Given the description of an element on the screen output the (x, y) to click on. 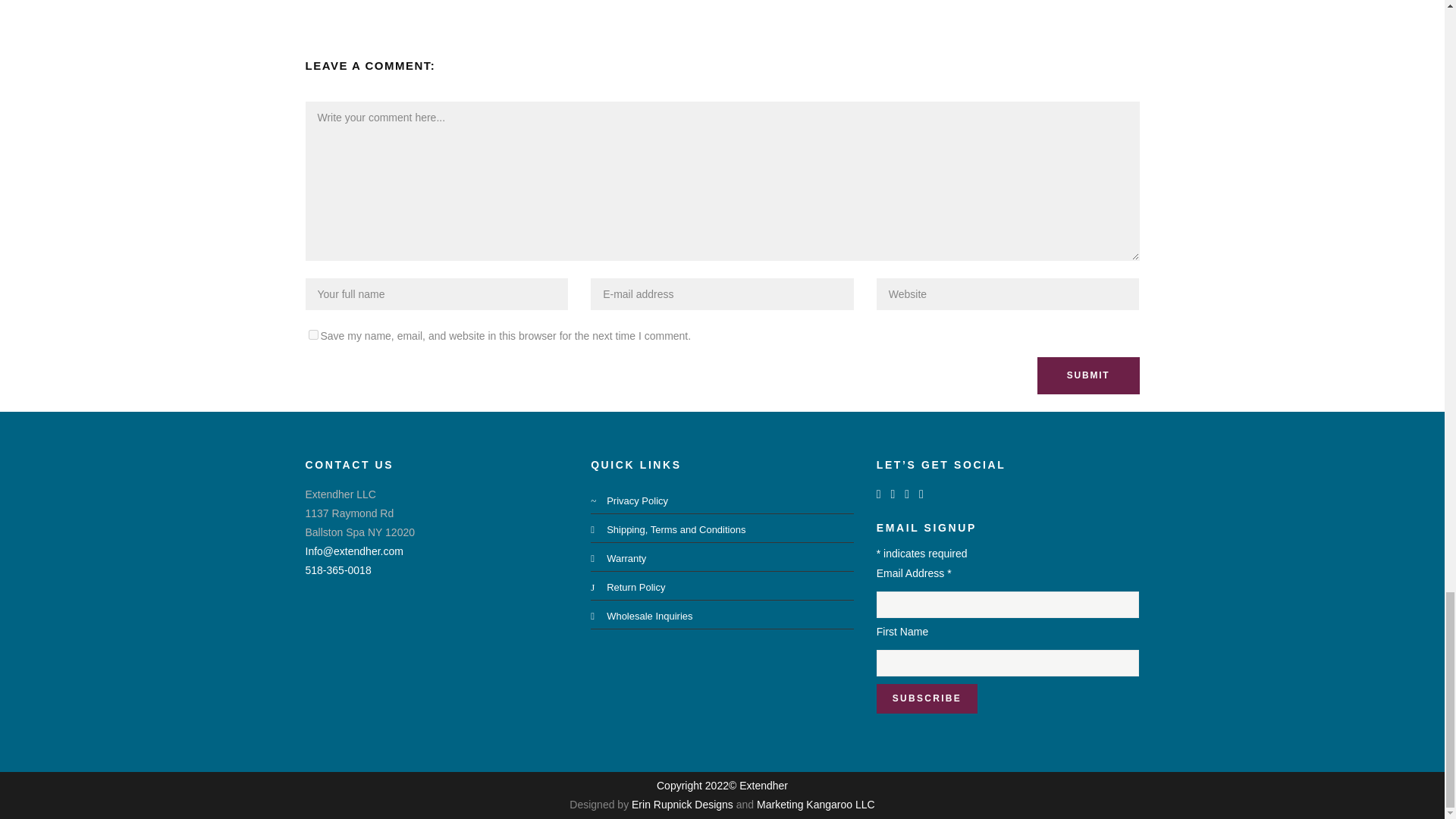
yes (312, 334)
Submit (1088, 375)
Subscribe (926, 698)
